Given the description of an element on the screen output the (x, y) to click on. 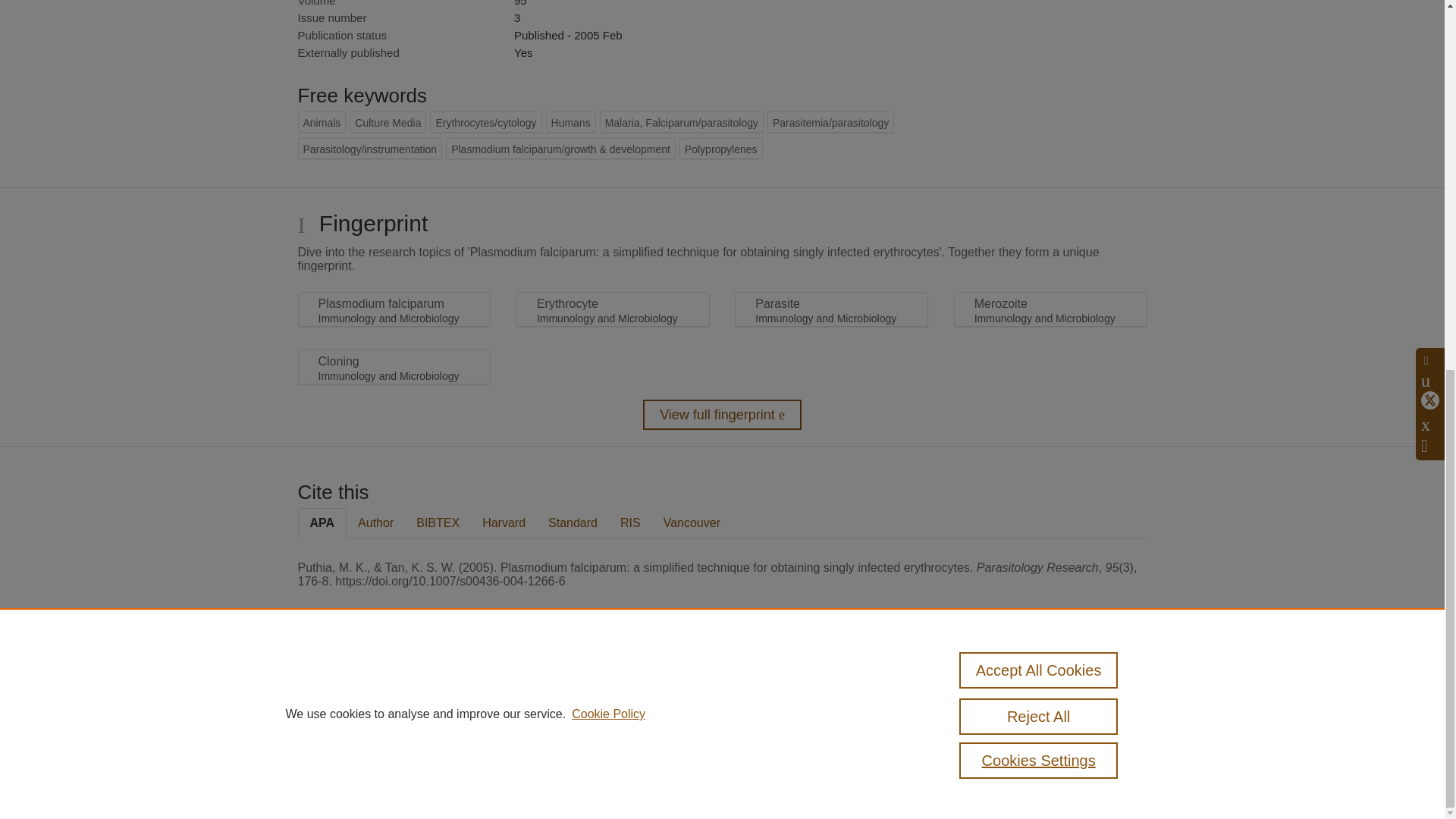
View full fingerprint (722, 414)
Pure (362, 686)
Elsevier B.V. (506, 707)
use of cookies (796, 739)
Scopus (394, 686)
